Given the description of an element on the screen output the (x, y) to click on. 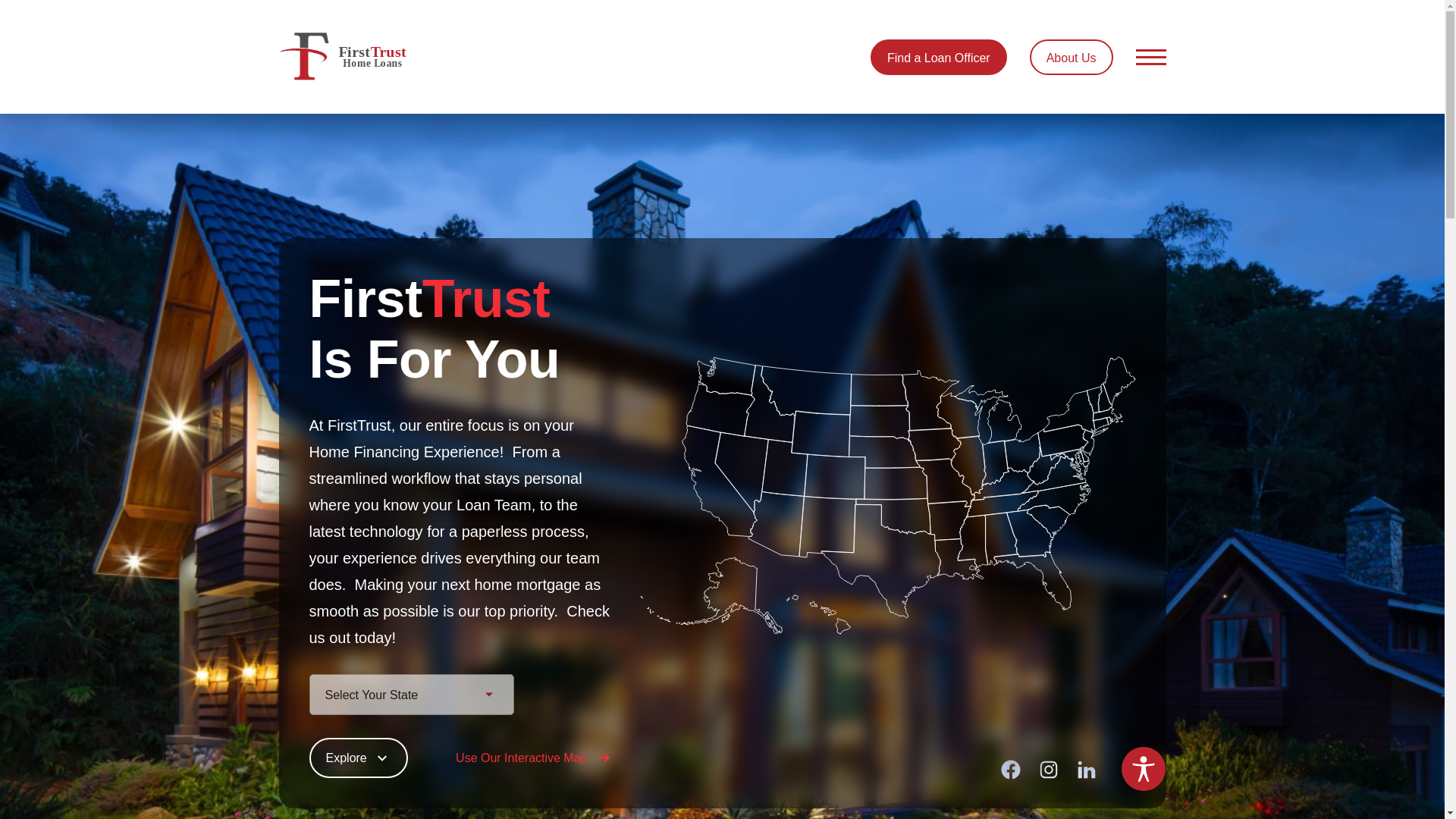
Louisiana (958, 558)
About Us (1071, 57)
Use Our Interactive Map (533, 758)
Florida (1031, 580)
Hawaii (818, 614)
instagram (1047, 768)
Virginia (1053, 474)
Colorado (833, 476)
Alaska (710, 595)
Find a Loan Officer (938, 57)
facebook (1010, 768)
New York (1075, 413)
Explore (357, 757)
linkedin (1086, 768)
Explore (357, 757)
